Given the description of an element on the screen output the (x, y) to click on. 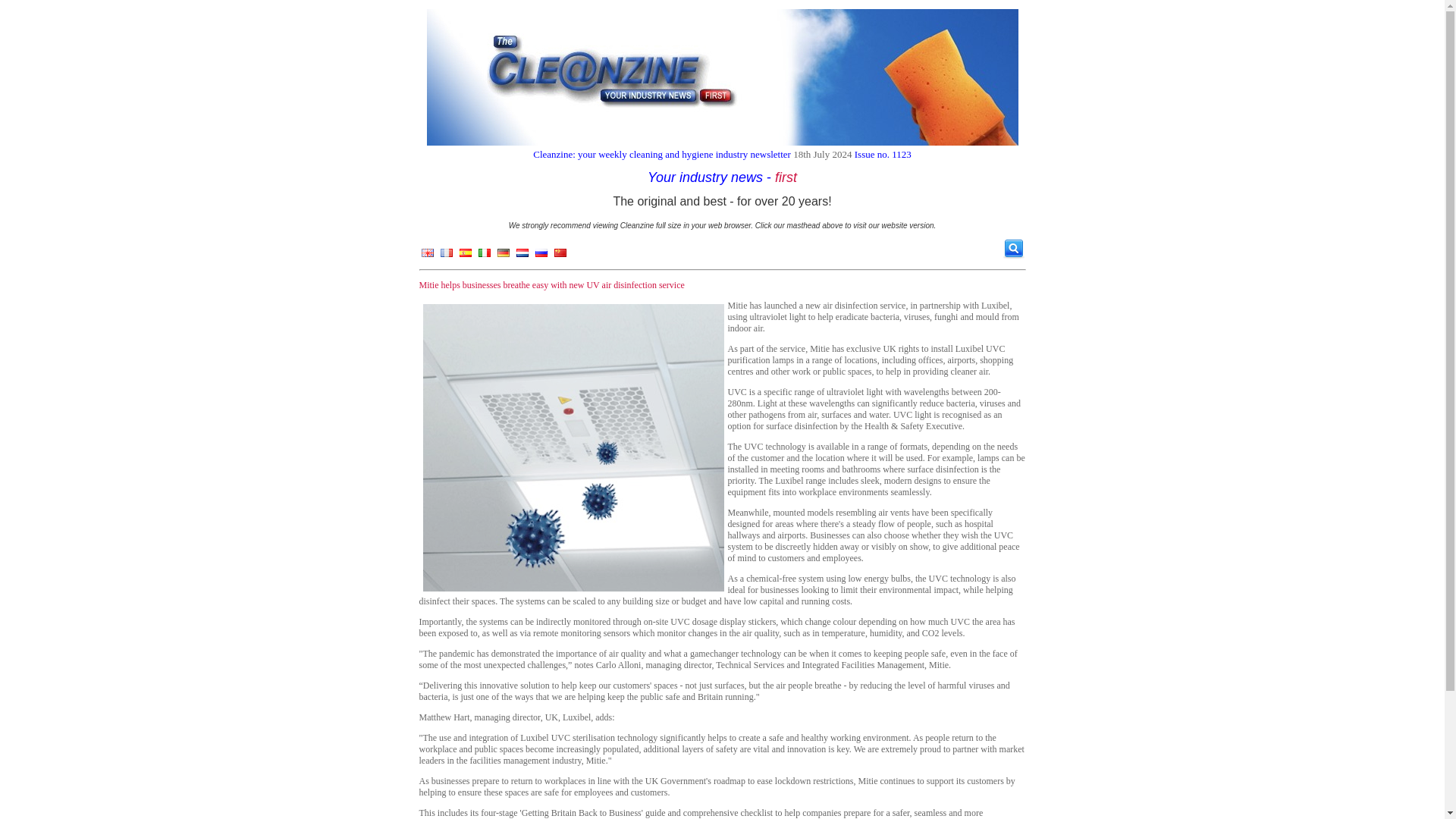
Translate to Dutch (522, 255)
Translate to German (503, 255)
Translate to Italian (484, 255)
Translate to Russian (540, 255)
Translate to French (446, 255)
Translate to Spanish (465, 255)
Translate to English (427, 255)
Translate to Mandarin (560, 255)
